Given the description of an element on the screen output the (x, y) to click on. 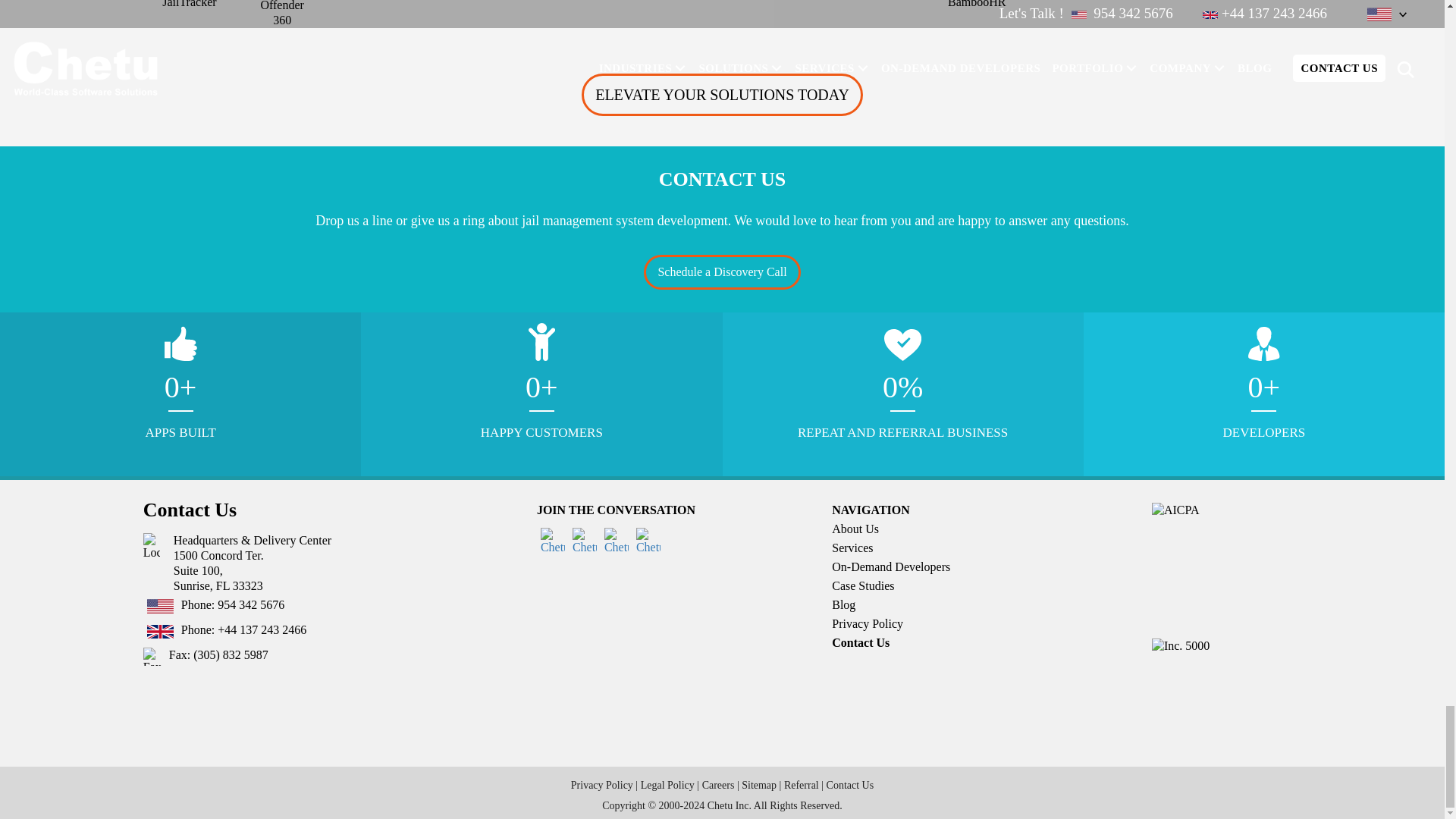
DXC Offender 360 (281, 13)
BambooHR (975, 4)
JailTracker (189, 4)
